Given the description of an element on the screen output the (x, y) to click on. 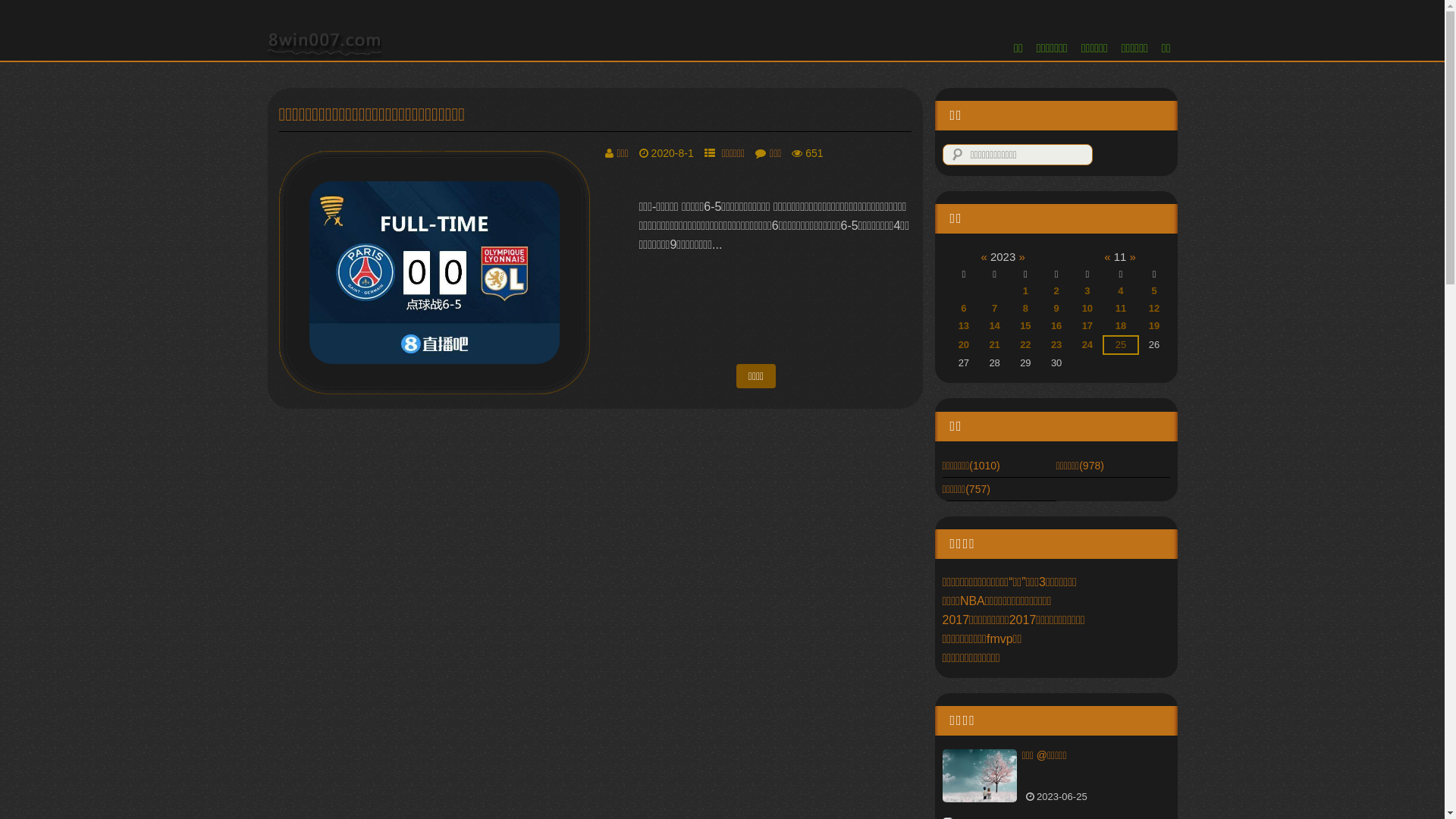
6 Element type: text (963, 307)
5 Element type: text (1153, 290)
15 Element type: text (1024, 325)
2 Element type: text (1056, 290)
21 Element type: text (993, 344)
18 Element type: text (1120, 325)
9 Element type: text (1056, 307)
8 Element type: text (1025, 307)
11 Element type: text (1120, 307)
14 Element type: text (993, 325)
17 Element type: text (1087, 325)
23 Element type: text (1056, 344)
3 Element type: text (1086, 290)
10 Element type: text (1087, 307)
12 Element type: text (1153, 307)
24 Element type: text (1087, 344)
7 Element type: text (994, 307)
22 Element type: text (1024, 344)
19 Element type: text (1153, 325)
4 Element type: text (1120, 290)
25 Element type: text (1120, 344)
20 Element type: text (963, 344)
16 Element type: text (1056, 325)
13 Element type: text (963, 325)
1 Element type: text (1025, 290)
